Given the description of an element on the screen output the (x, y) to click on. 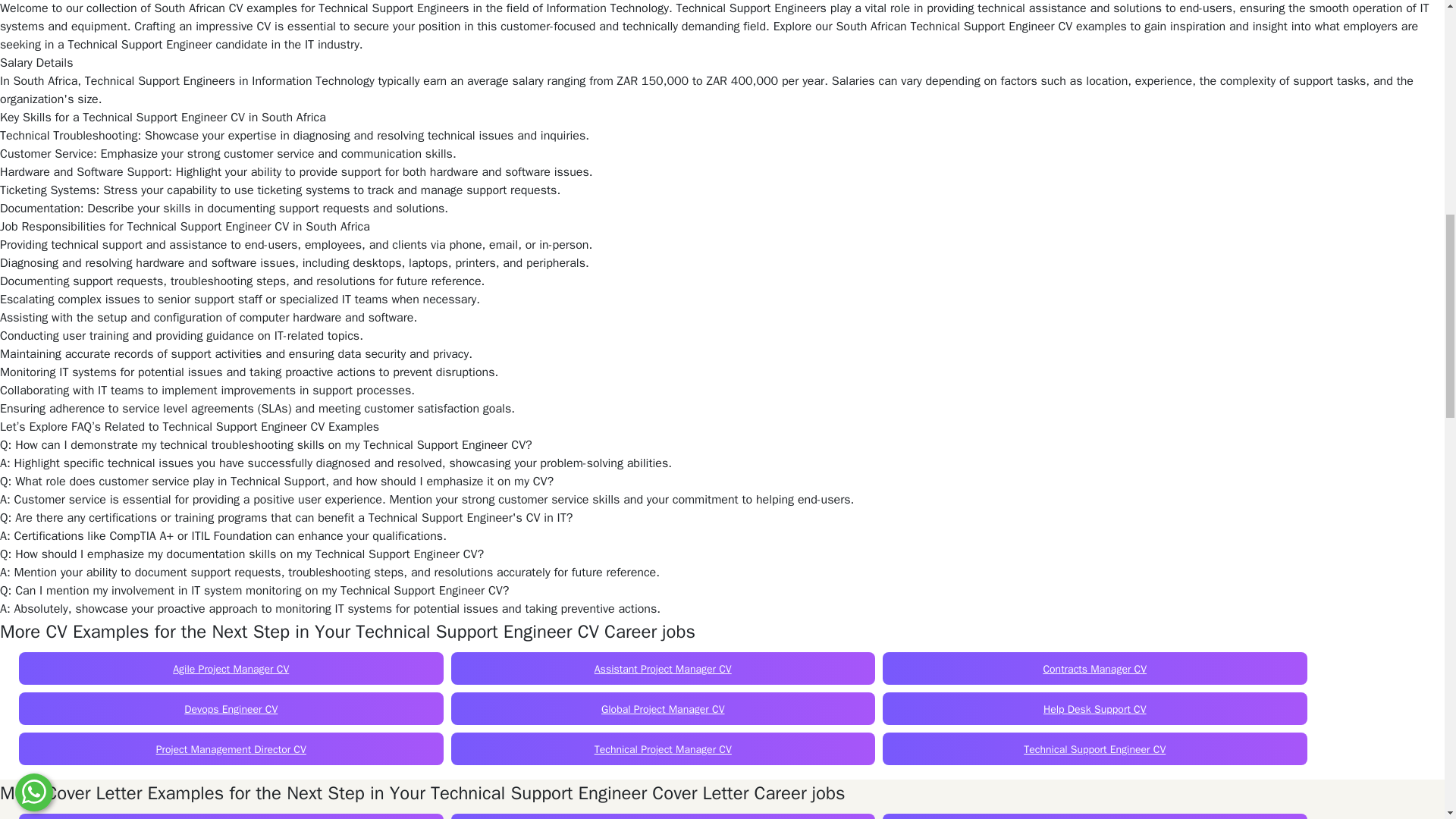
Assistant Project Manager CV (663, 668)
click to open whatsapp chat (33, 5)
Contracts Manager CV (1094, 668)
Global Project Manager CV (662, 708)
Devops Engineer CV (231, 708)
Agile Project Manager CV (230, 668)
Help Desk Support CV (1095, 708)
